Given the description of an element on the screen output the (x, y) to click on. 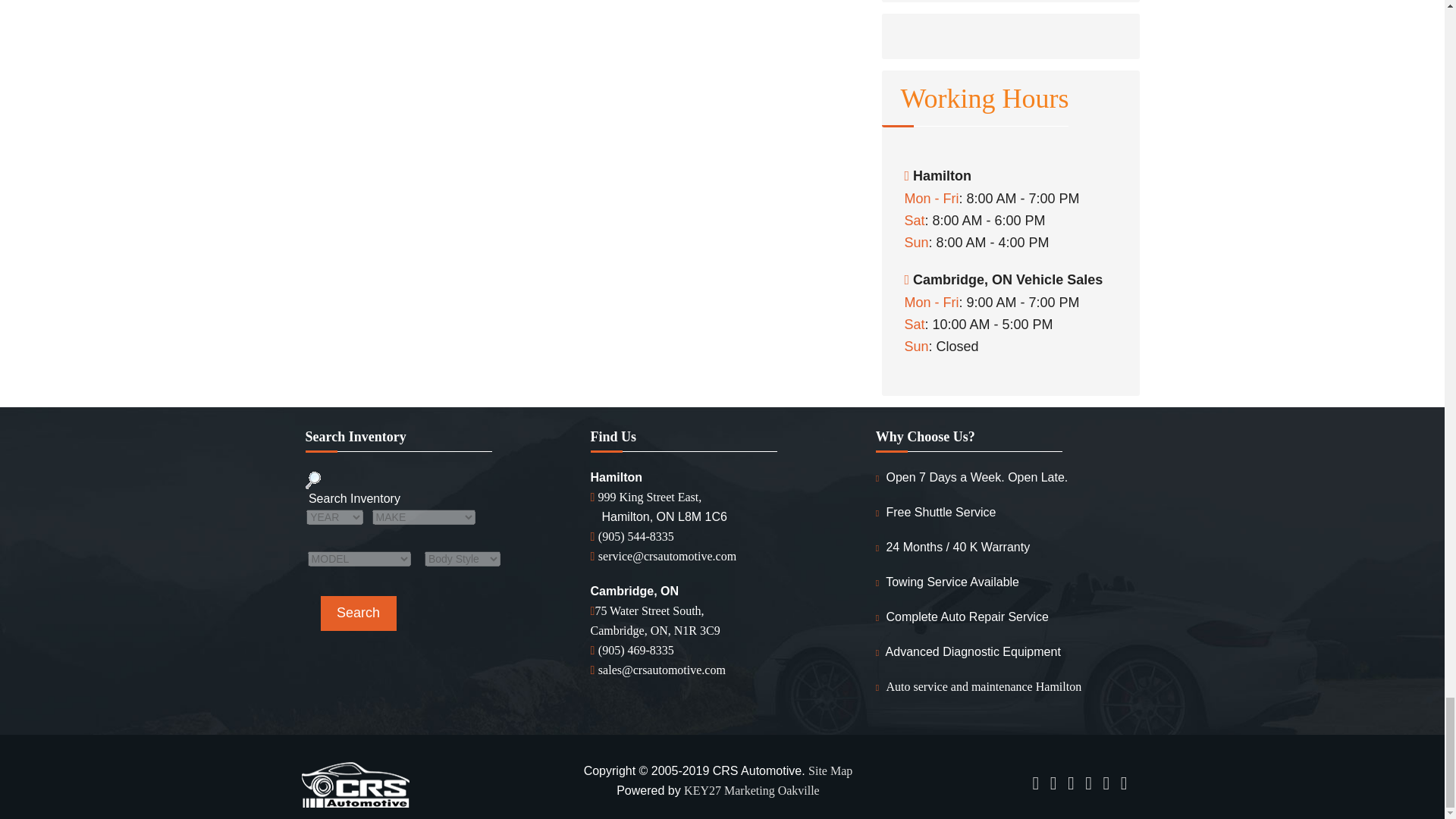
Search (358, 612)
Search (358, 612)
CRS Automotive Stoney Creek car sale logo (355, 783)
